Given the description of an element on the screen output the (x, y) to click on. 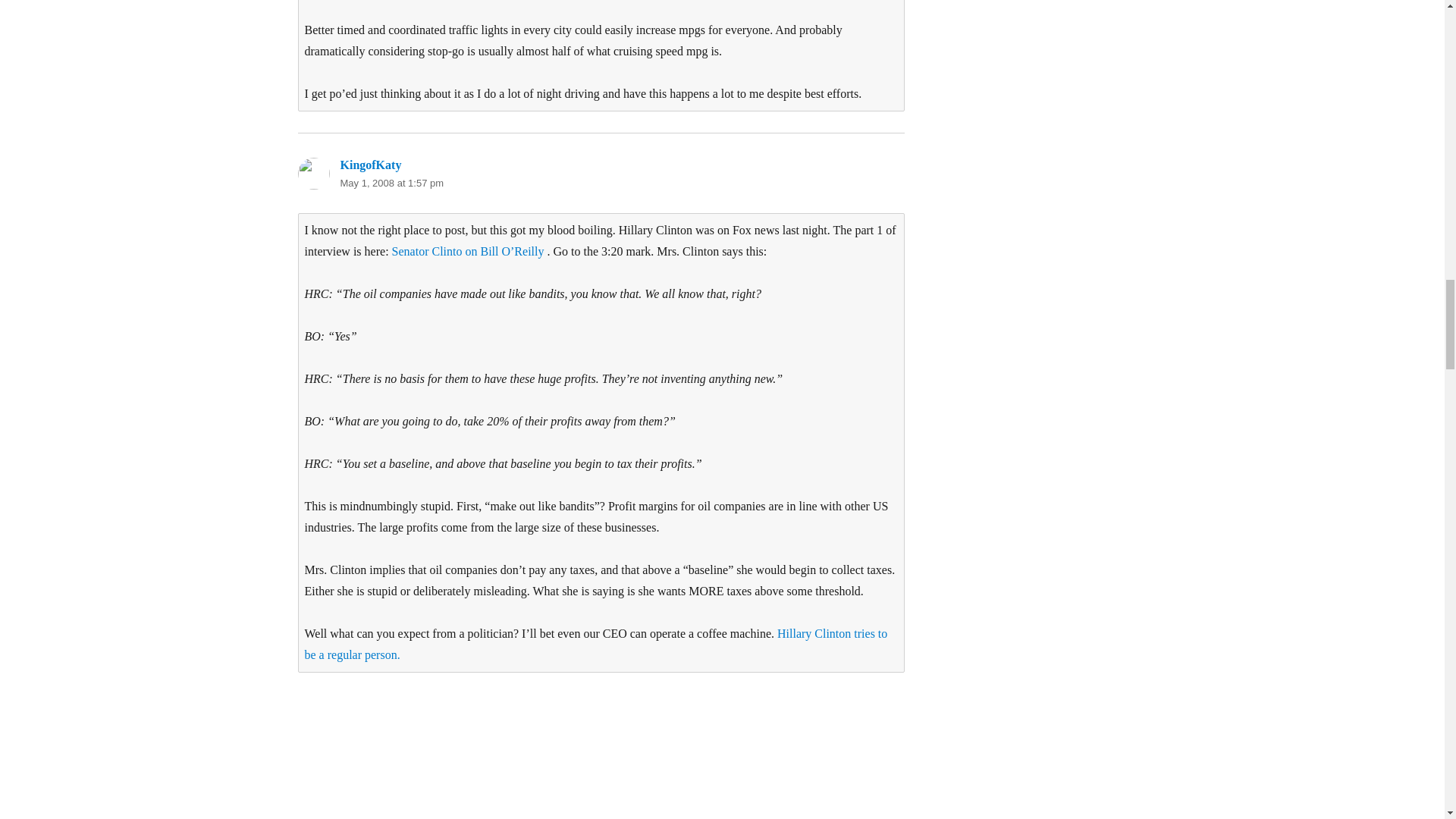
Hillary Clinton tries to be a regular person. (596, 643)
May 1, 2008 at 1:57 pm (391, 183)
KingofKaty (370, 164)
